Given the description of an element on the screen output the (x, y) to click on. 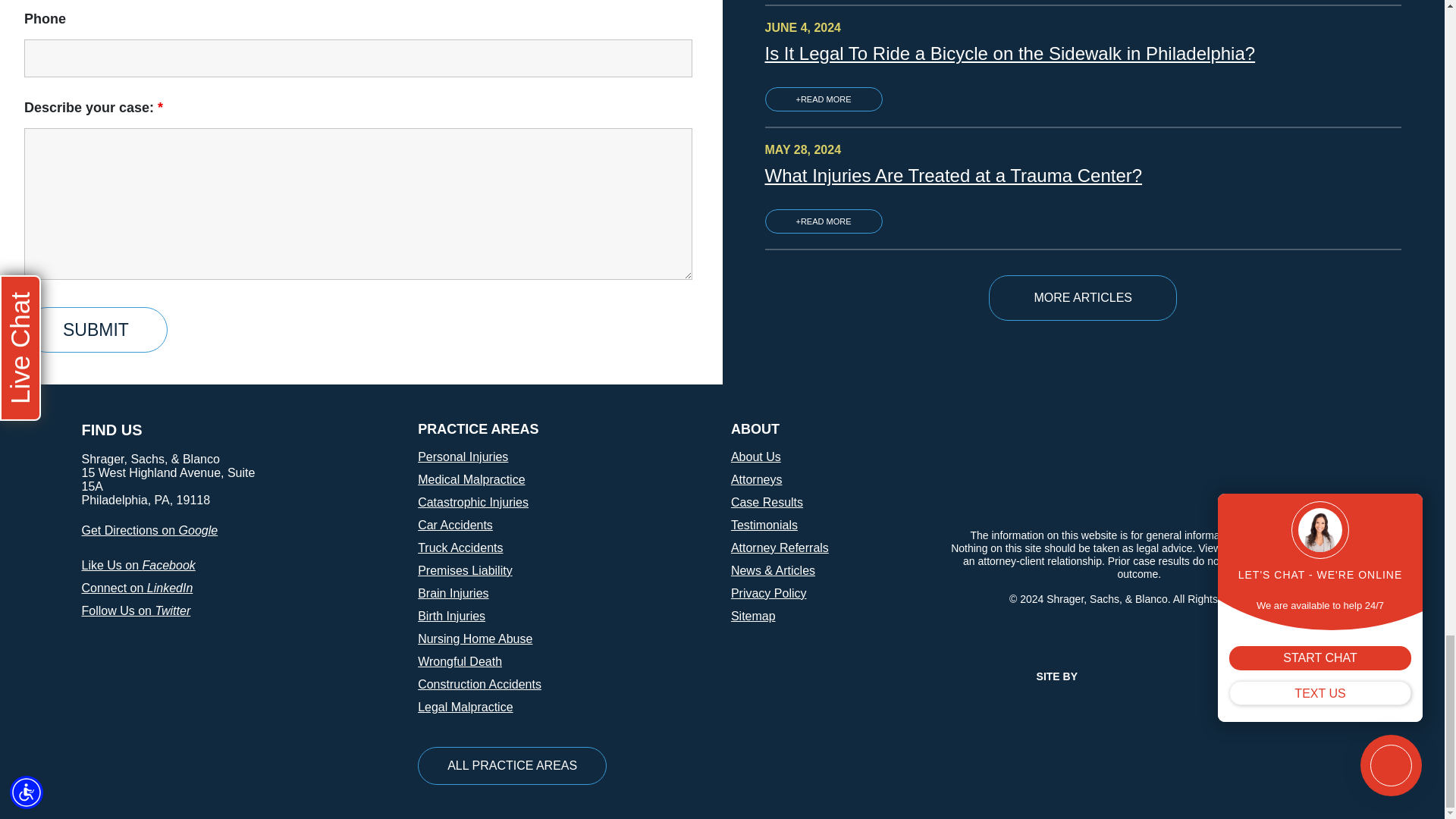
Submit (95, 329)
